Given the description of an element on the screen output the (x, y) to click on. 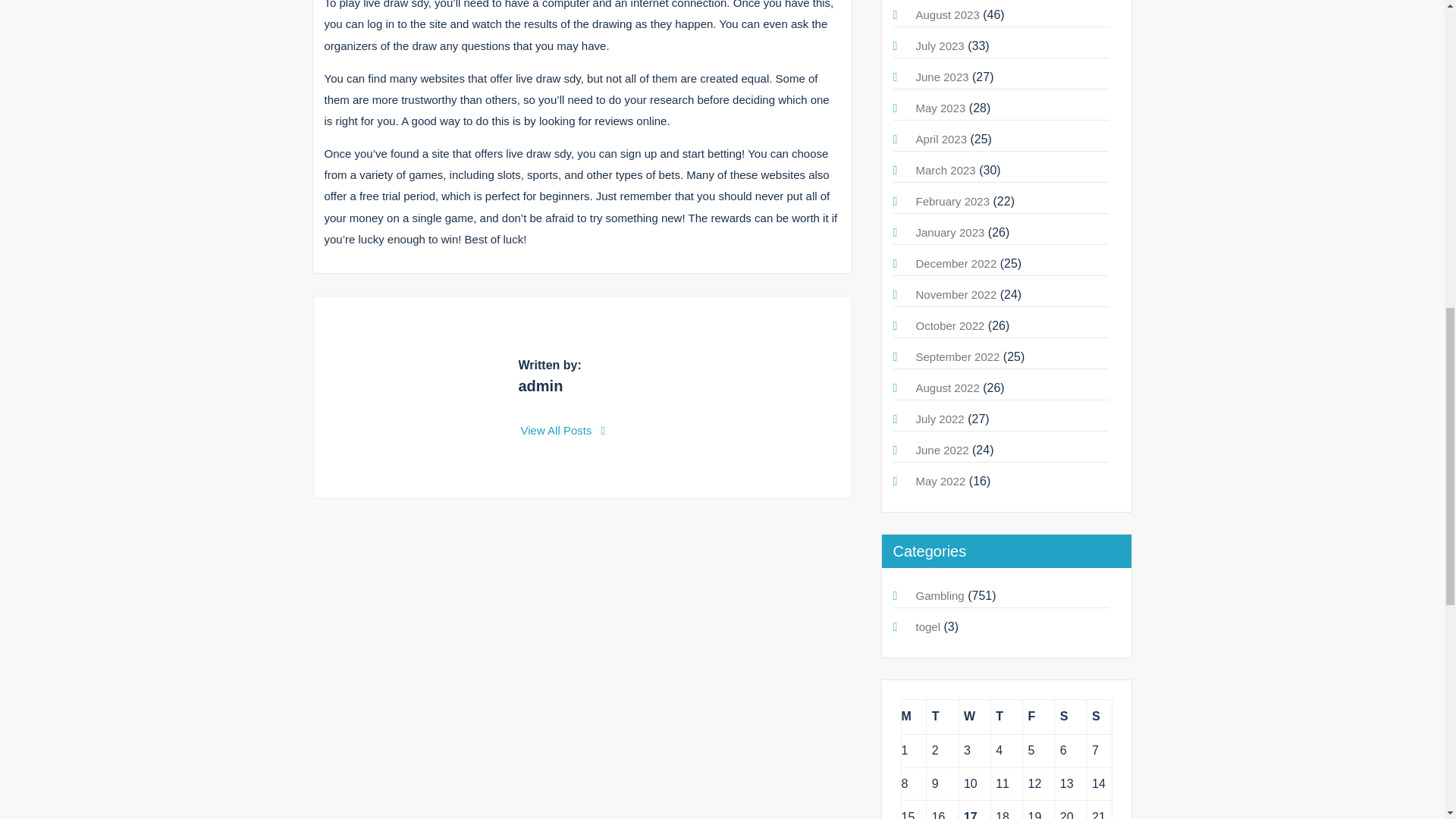
Thursday (1006, 716)
February 2023 (952, 201)
December 2022 (956, 263)
March 2023 (945, 169)
September 2022 (957, 356)
May 2022 (940, 481)
October 2022 (950, 325)
July 2022 (939, 418)
August 2023 (947, 14)
July 2023 (939, 45)
View All Posts (562, 430)
Tuesday (942, 716)
May 2023 (940, 107)
November 2022 (956, 294)
June 2023 (942, 76)
